Given the description of an element on the screen output the (x, y) to click on. 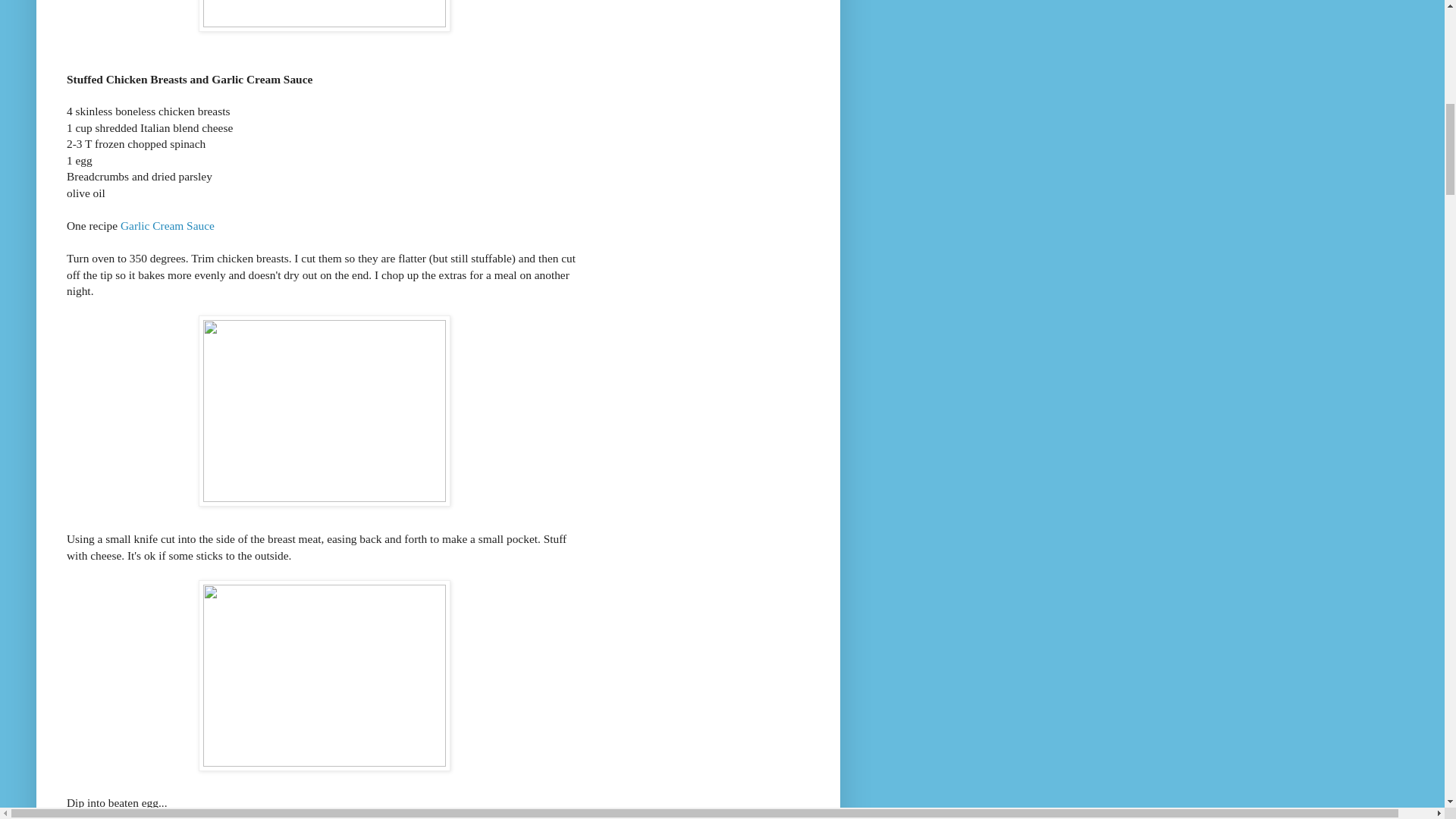
Garlic Cream Sauce (167, 225)
